Given the description of an element on the screen output the (x, y) to click on. 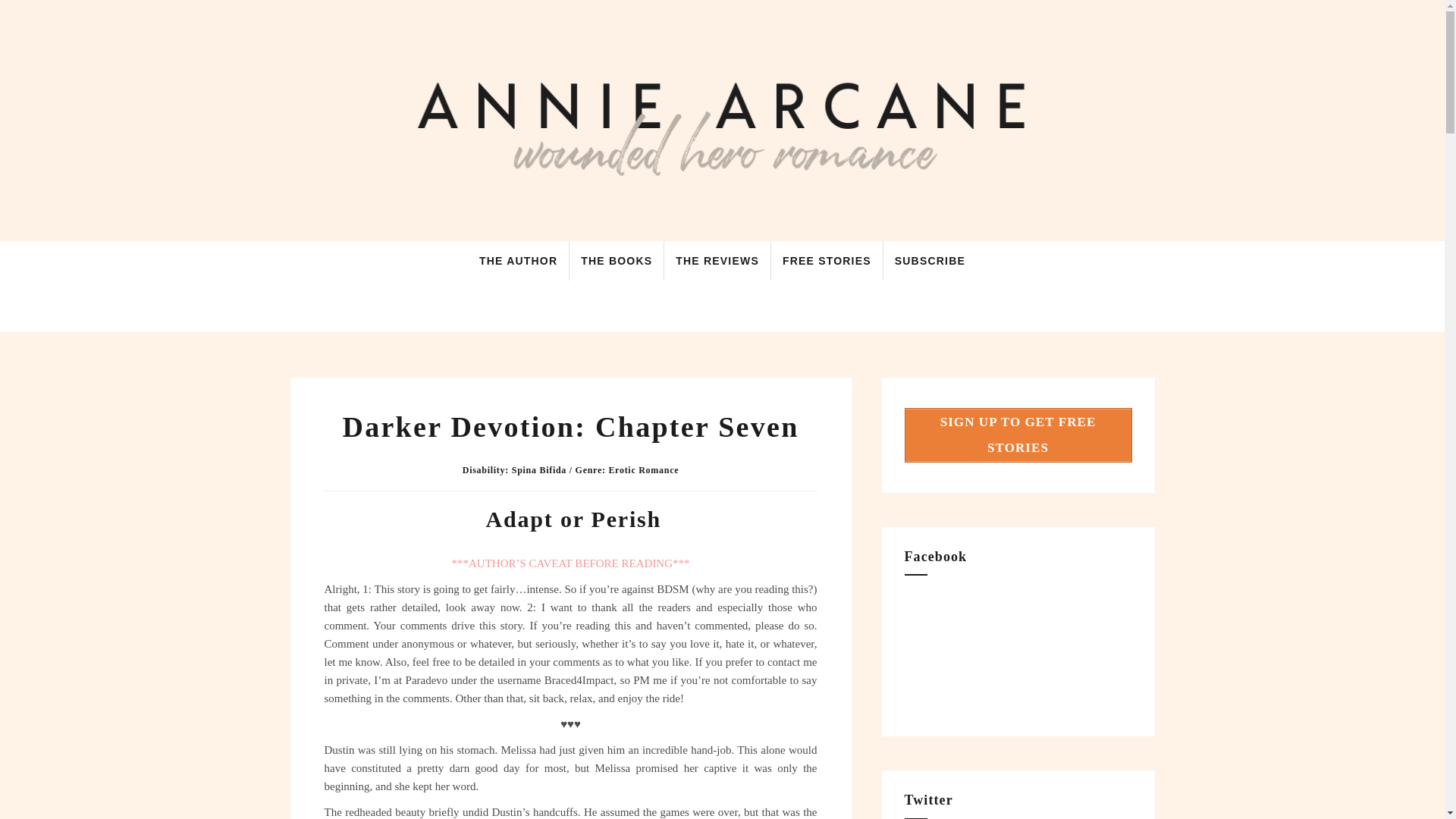
THE BOOKS (616, 259)
THE REVIEWS (716, 259)
SUBSCRIBE (930, 259)
FREE STORIES (826, 259)
SIGN UP TO GET FREE STORIES (1017, 434)
THE AUTHOR (518, 259)
